Given the description of an element on the screen output the (x, y) to click on. 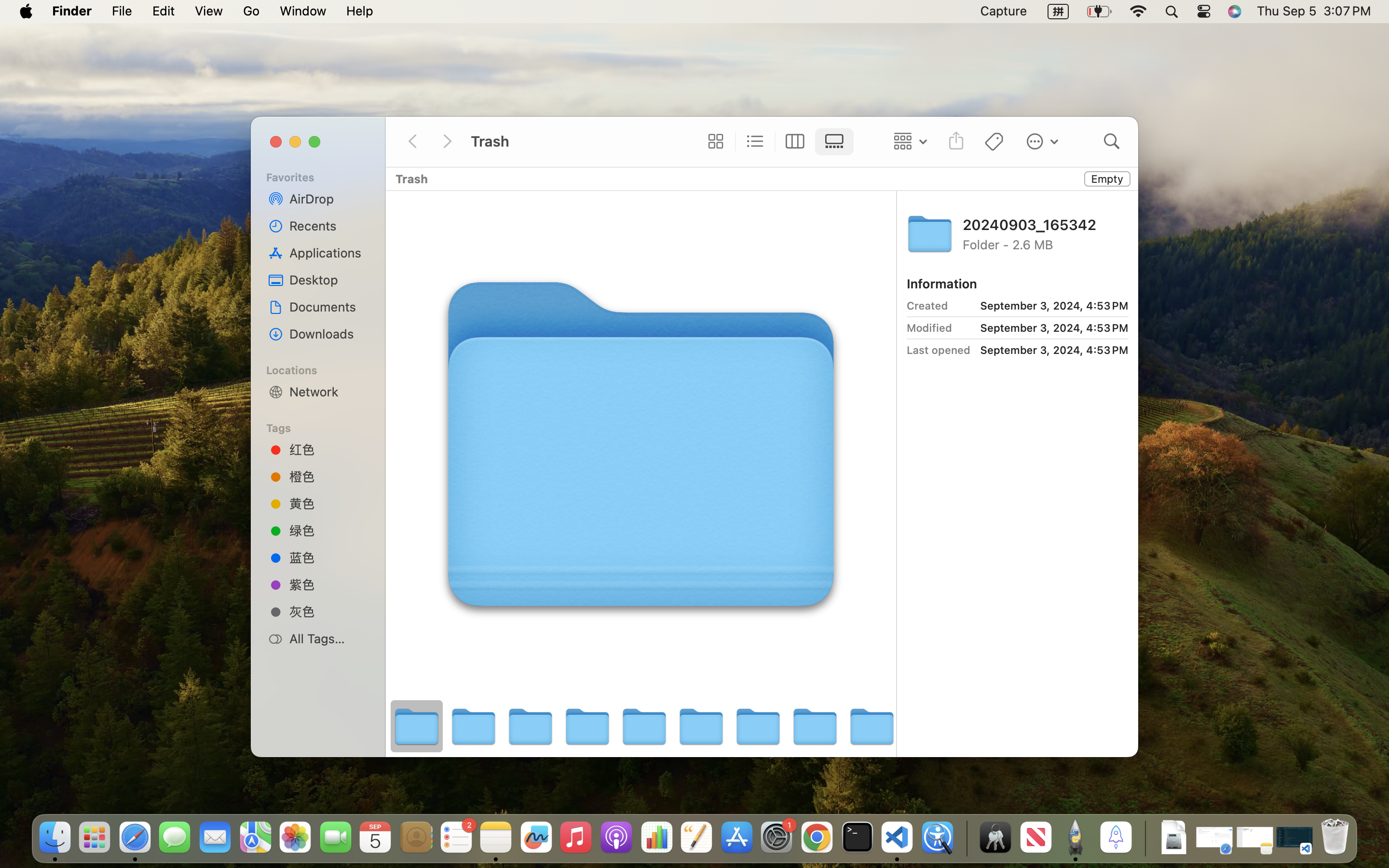
紫色 Element type: AXStaticText (328, 584)
Trash Element type: AXStaticText (579, 141)
20240903_165342 Element type: AXStaticText (1045, 223)
<AXUIElement 0x1783eb800> {pid=538} Element type: AXRadioGroup (774, 141)
Created Element type: AXStaticText (927, 305)
